Given the description of an element on the screen output the (x, y) to click on. 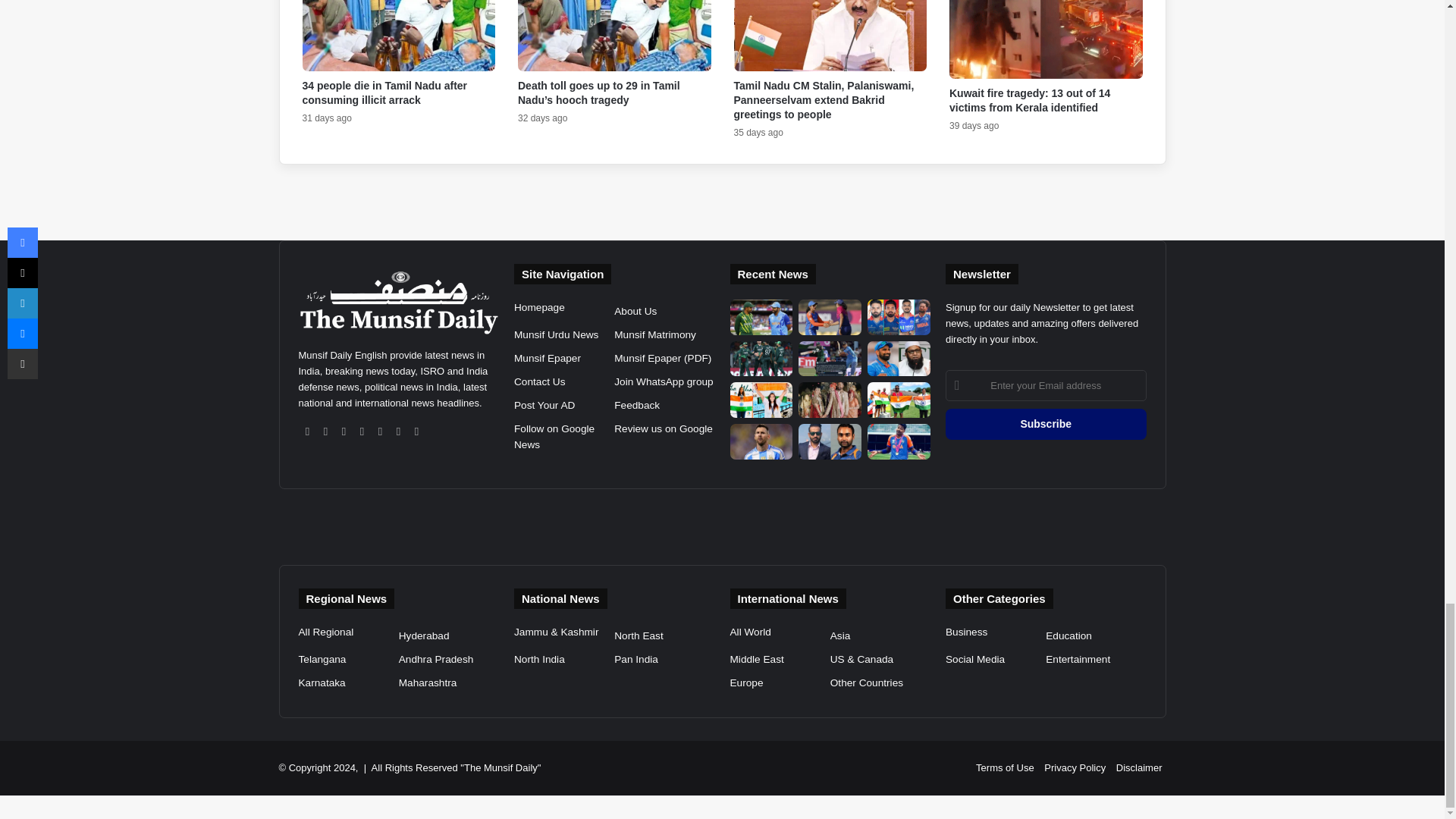
Subscribe (1045, 423)
